Given the description of an element on the screen output the (x, y) to click on. 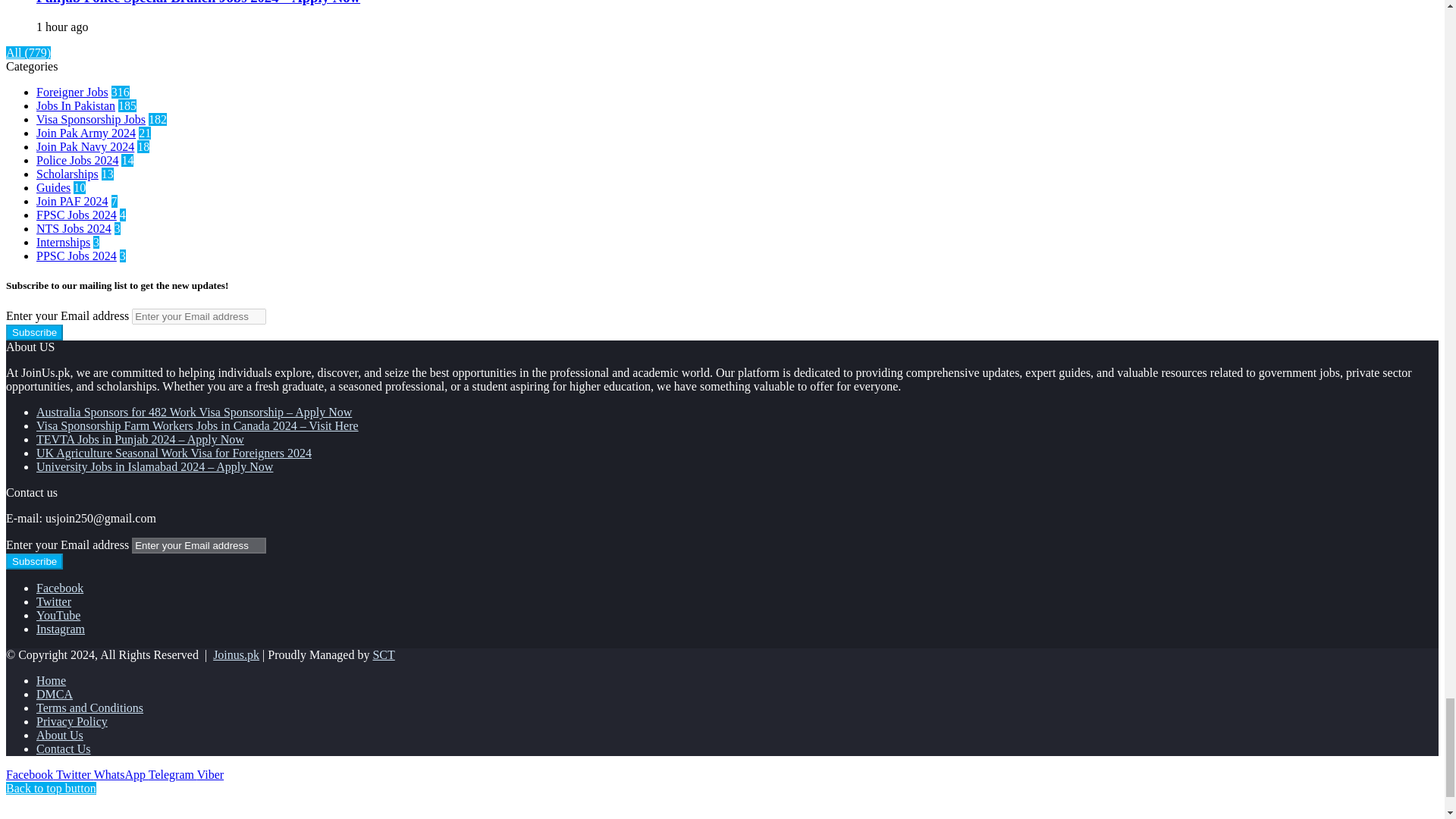
Facebook (30, 774)
Viber (210, 774)
Subscribe (33, 332)
Telegram (172, 774)
WhatsApp (121, 774)
Twitter (75, 774)
Subscribe (33, 561)
